Given the description of an element on the screen output the (x, y) to click on. 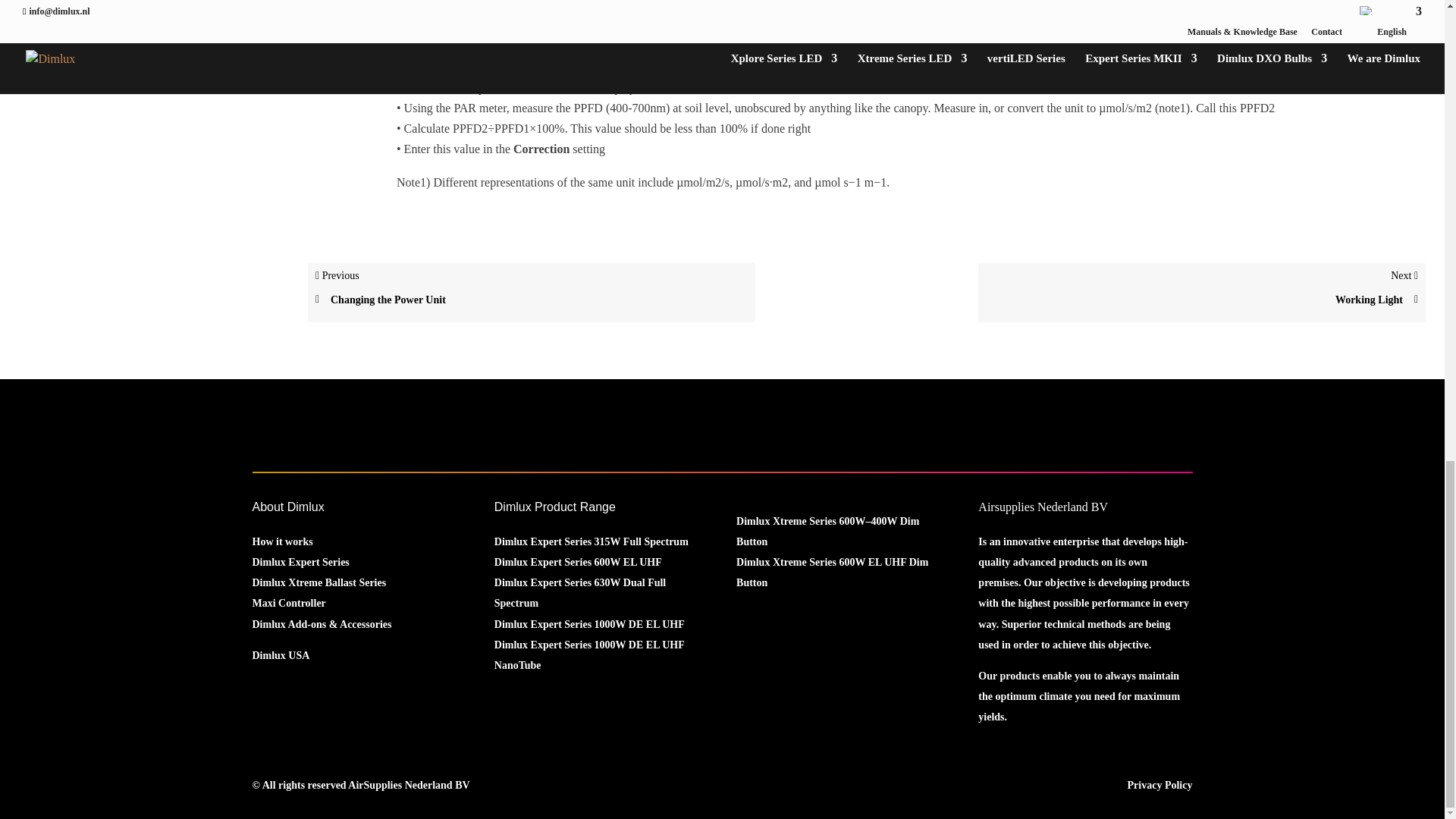
Working Light (1201, 299)
Changing the Power Unit (531, 299)
